Given the description of an element on the screen output the (x, y) to click on. 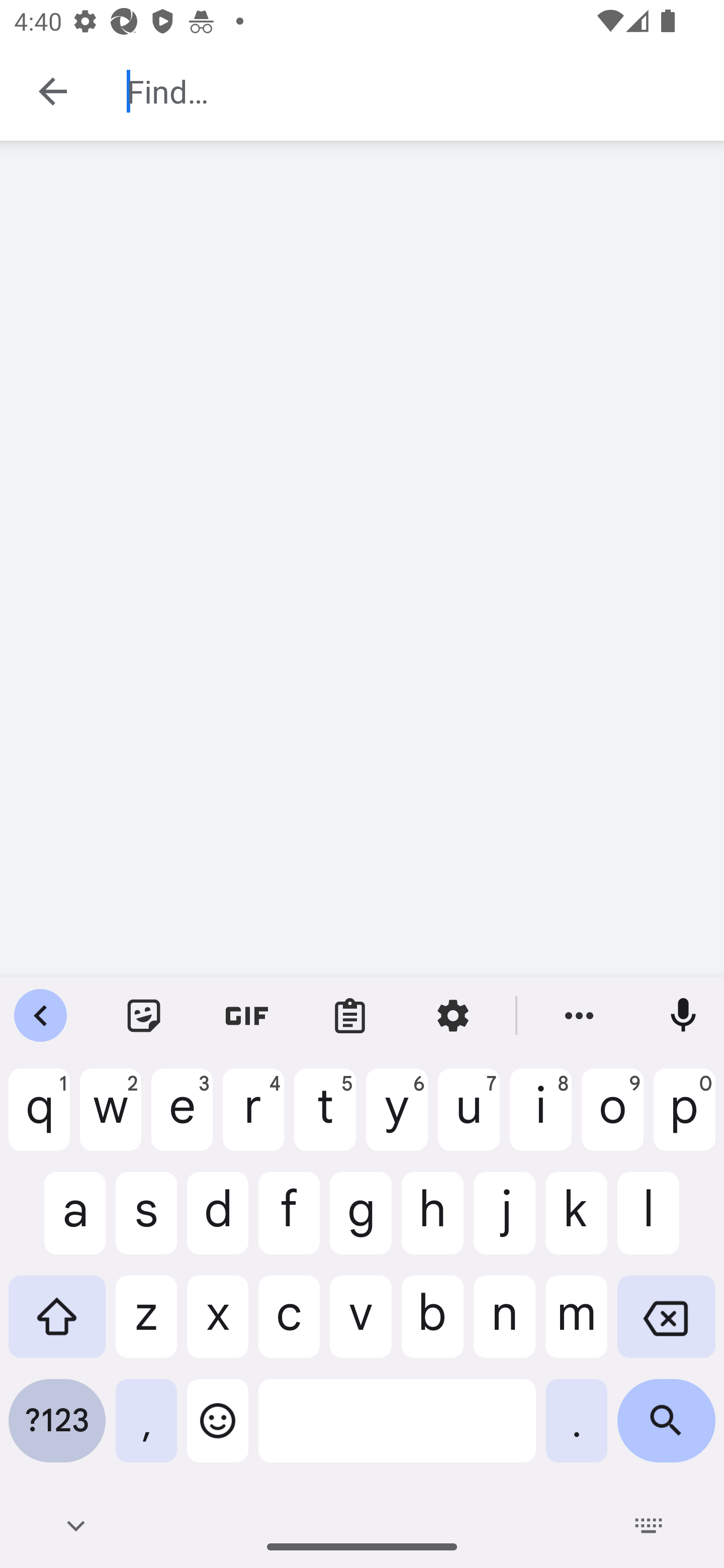
Find… (410, 91)
Done (49, 90)
